Given the description of an element on the screen output the (x, y) to click on. 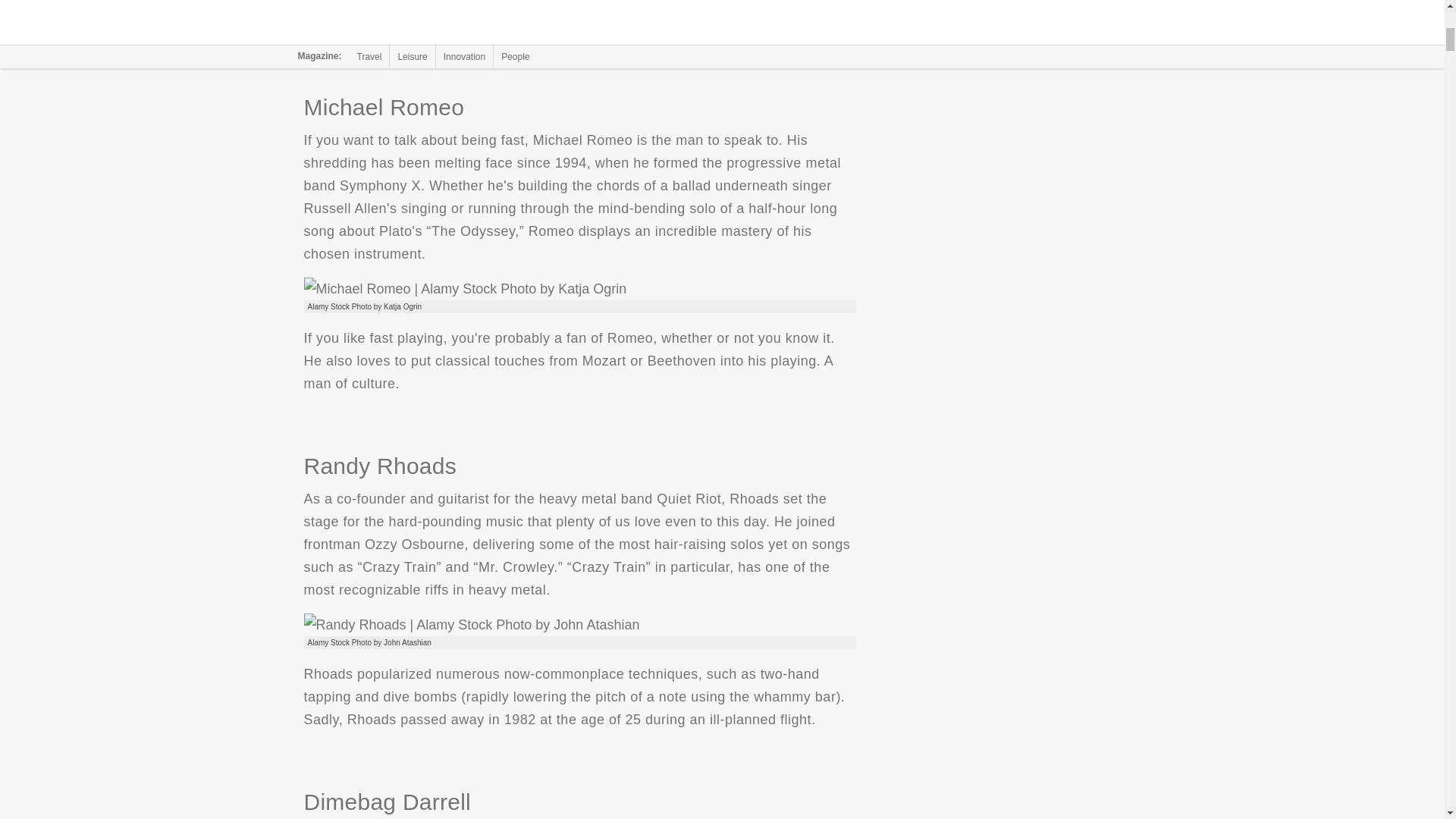
Michael Romeo (464, 288)
Randy Rhoads (470, 624)
